Given the description of an element on the screen output the (x, y) to click on. 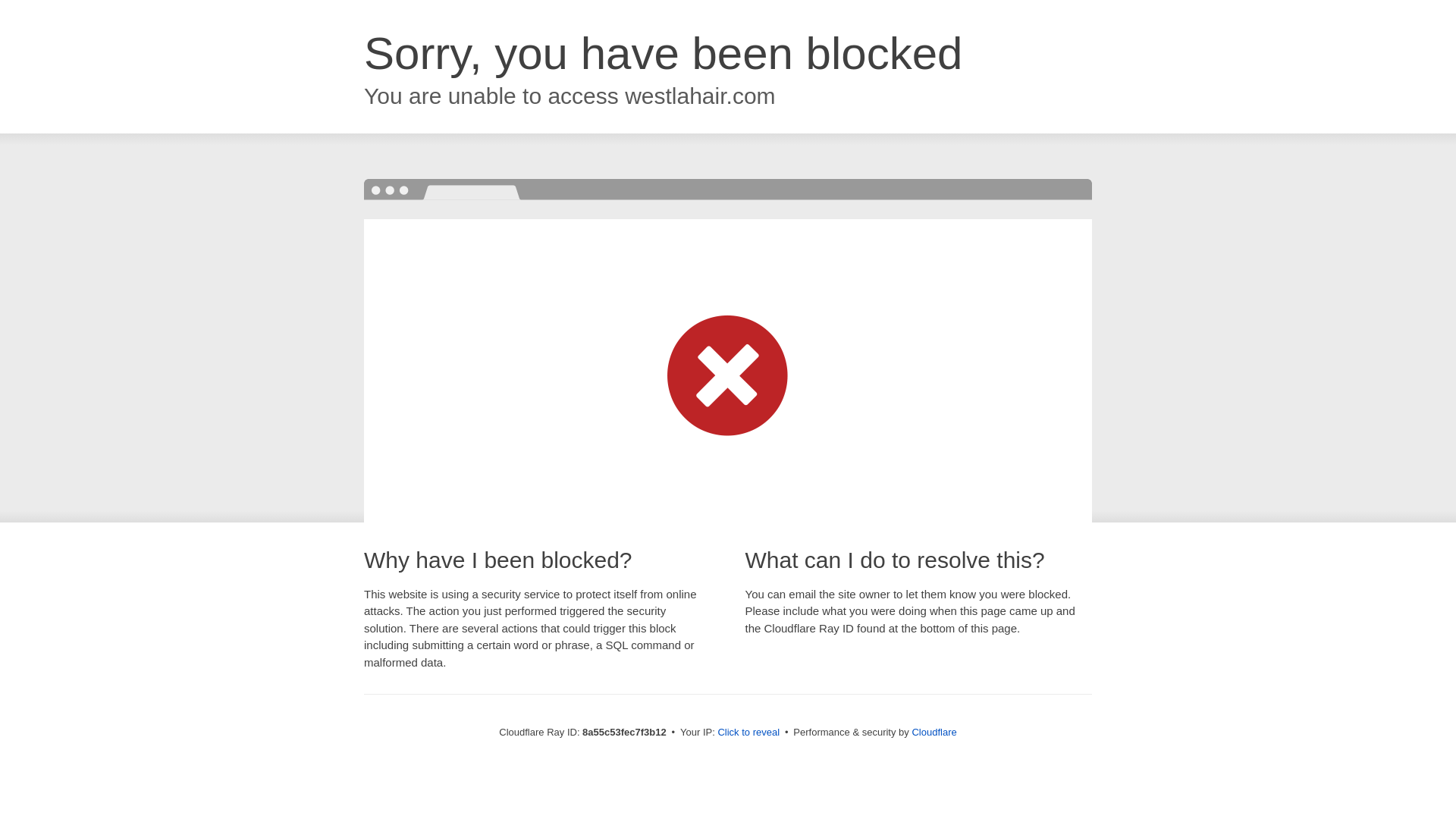
Click to reveal (747, 732)
Cloudflare (933, 731)
